Given the description of an element on the screen output the (x, y) to click on. 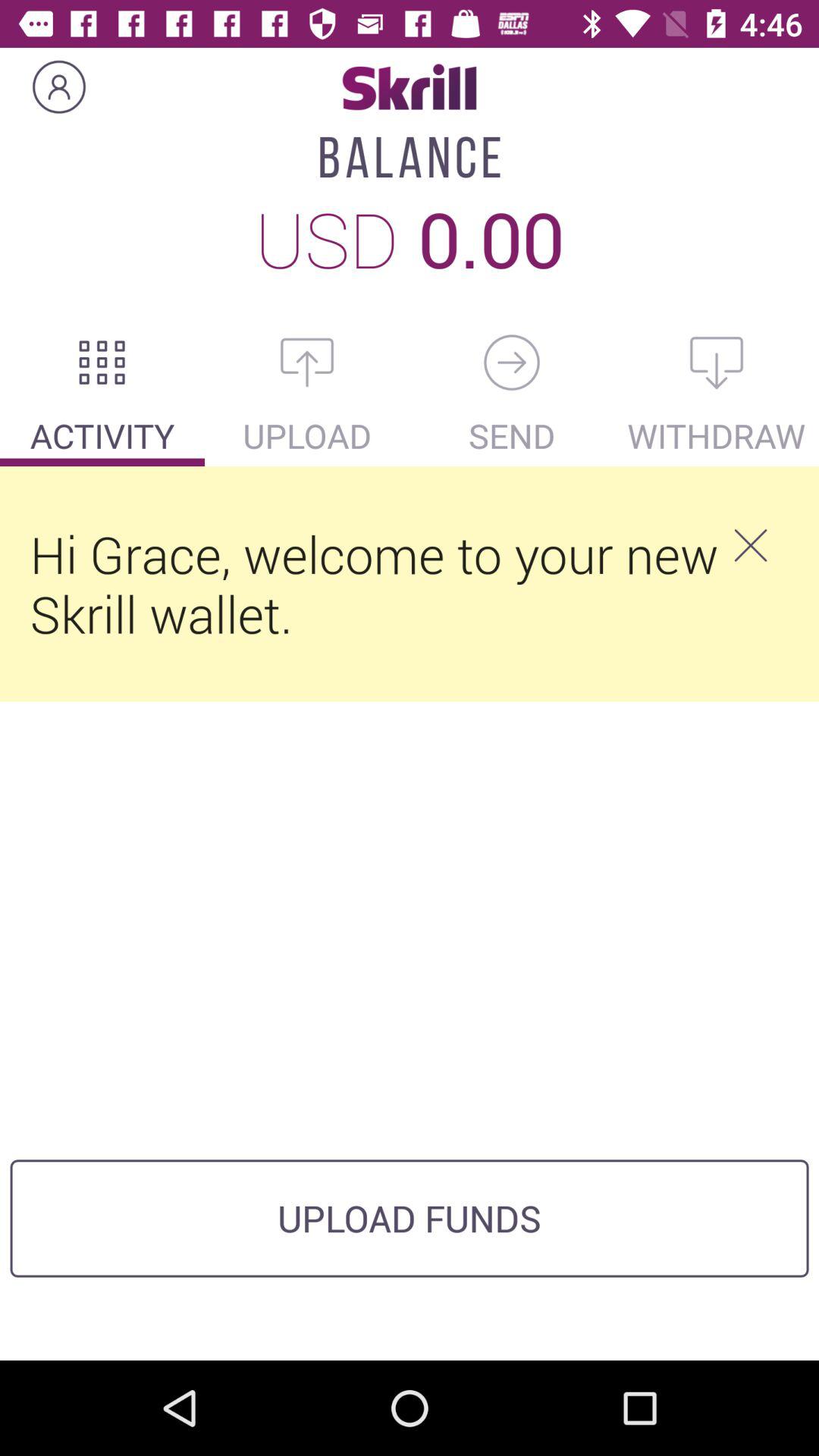
go to top of send (511, 362)
click on upload funds (409, 1218)
select upload which is after activity on the page (306, 434)
select the symbol which is above the withdraw (716, 362)
